Given the description of an element on the screen output the (x, y) to click on. 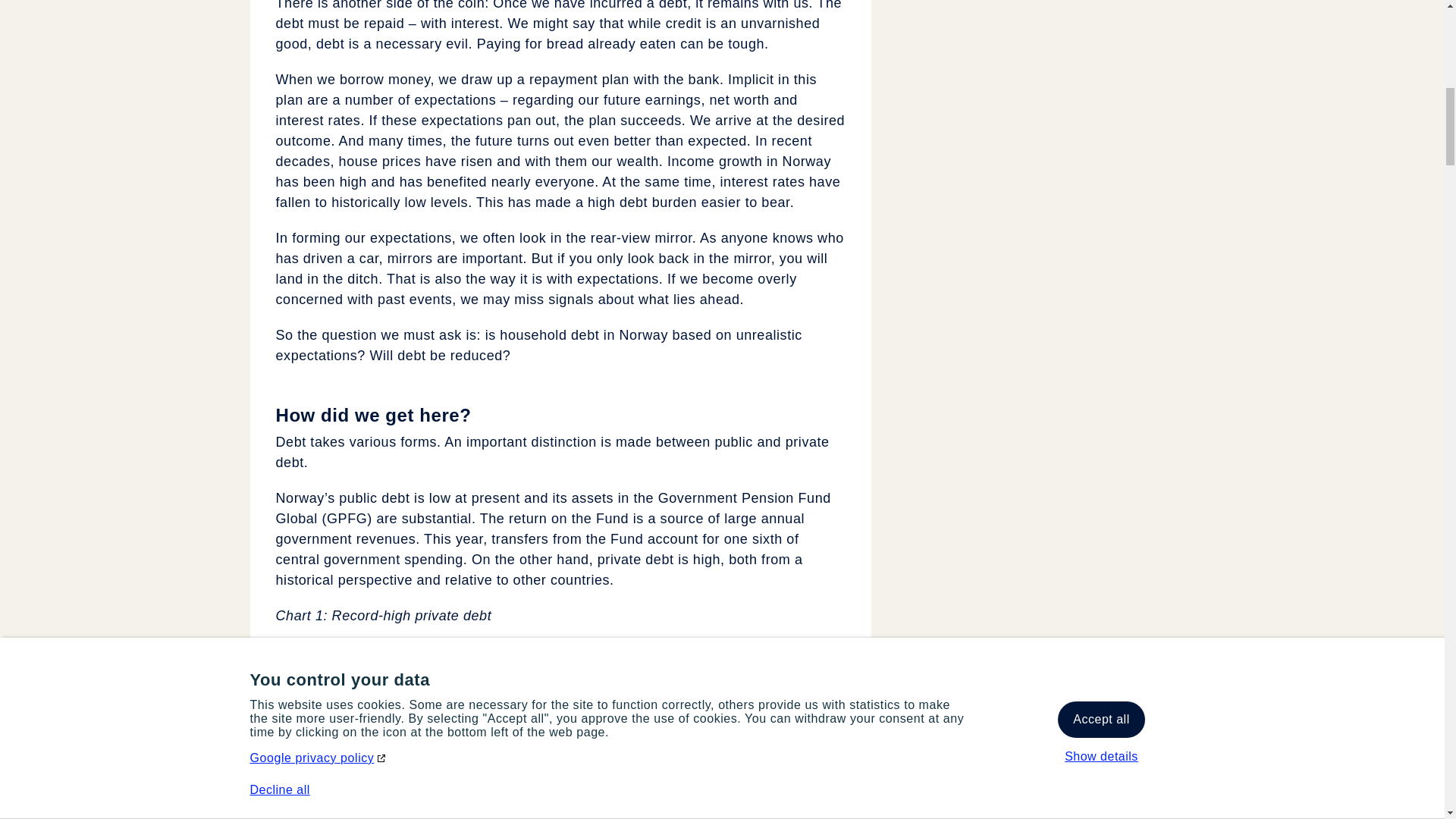
Session (983, 229)
Required for the website to perform properly. (636, 279)
Cookie policy (90, 28)
.www.norges-bank.no (1331, 229)
Cloudflare (462, 131)
www.norges-bank.no (1331, 180)
ARRAffinity (1157, 229)
Read more about cookies (270, 28)
.highcharts.com (1331, 131)
Microsoft Azure (462, 279)
